Given the description of an element on the screen output the (x, y) to click on. 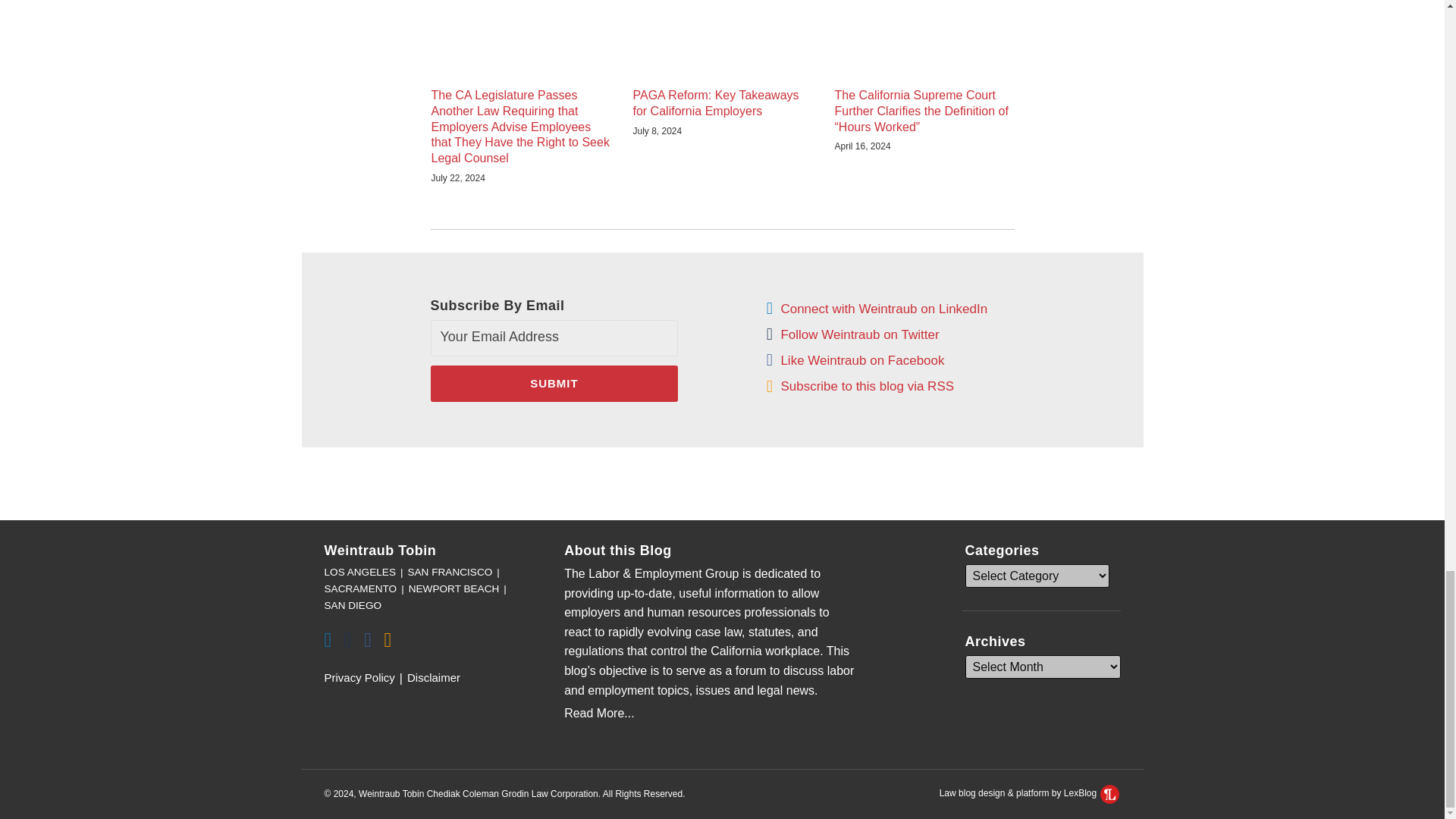
Submit (554, 383)
LexBlog Logo (1109, 793)
PAGA Reform: Key Takeaways for California Employers (720, 103)
